Given the description of an element on the screen output the (x, y) to click on. 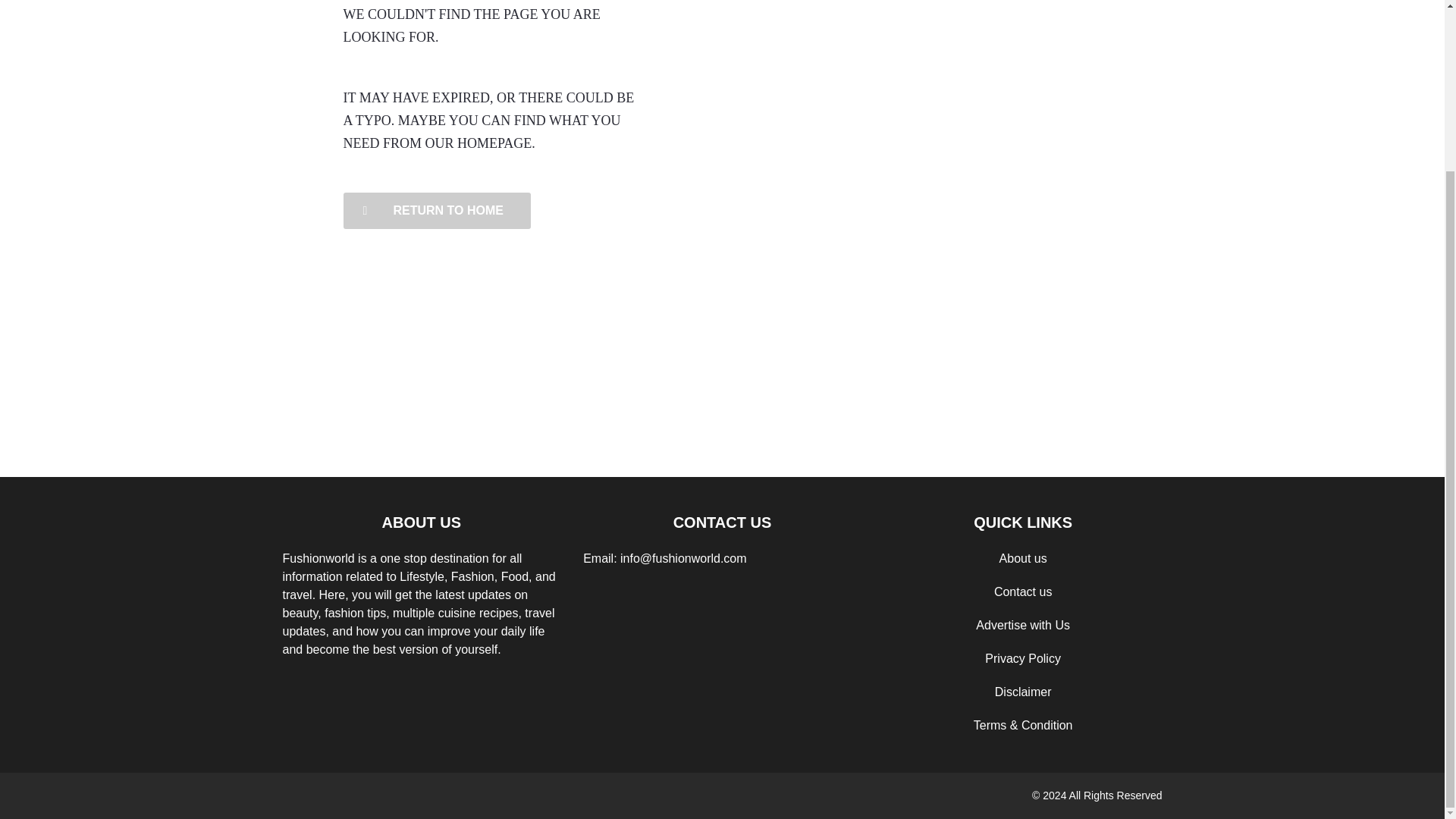
Contact us (1022, 591)
Disclaimer (1022, 691)
RETURN TO HOME (435, 210)
Privacy Policy (1023, 658)
Advertise with Us (1022, 625)
About us (1022, 558)
